Given the description of an element on the screen output the (x, y) to click on. 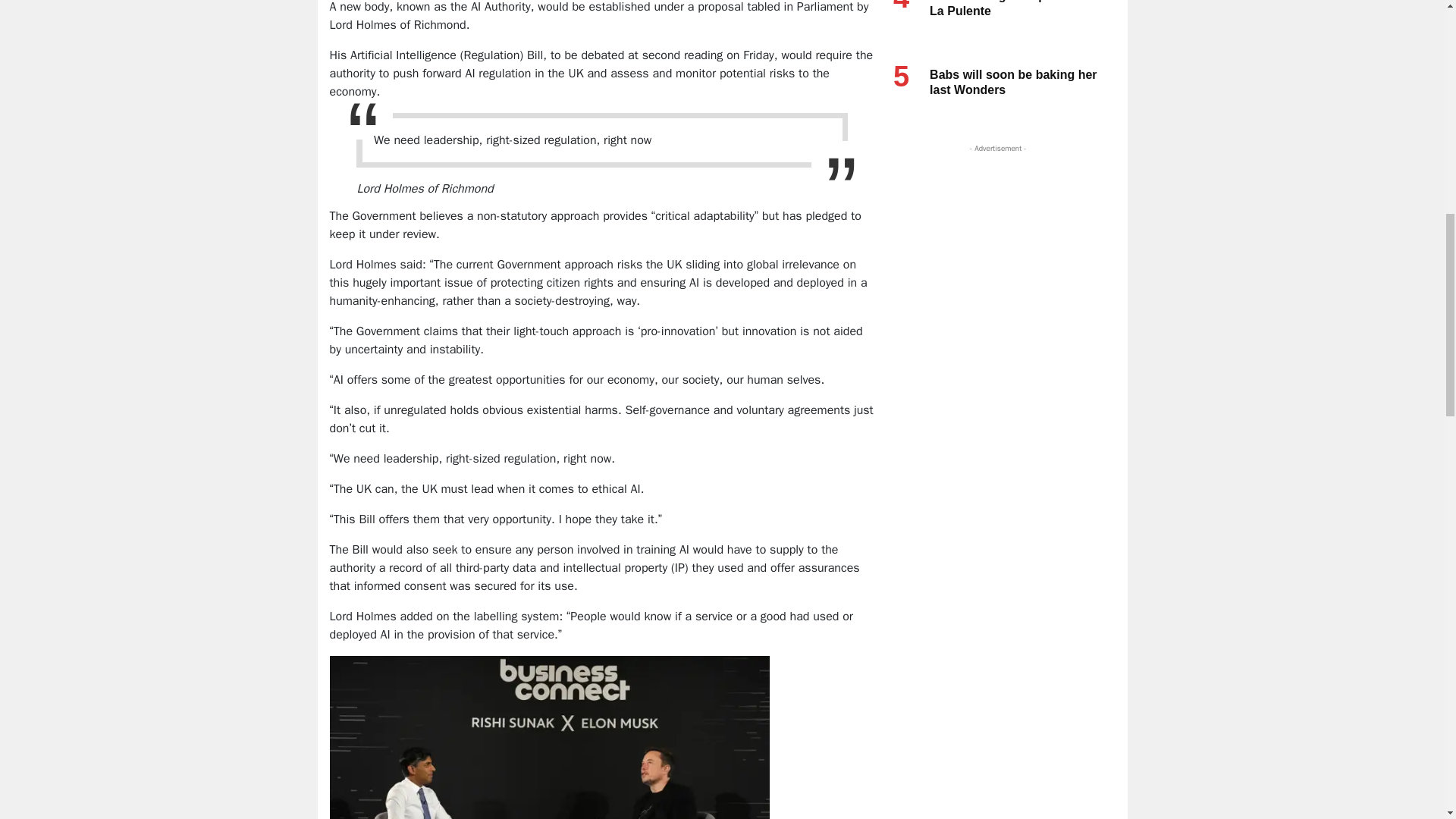
3rd party ad content (994, 250)
